Given the description of an element on the screen output the (x, y) to click on. 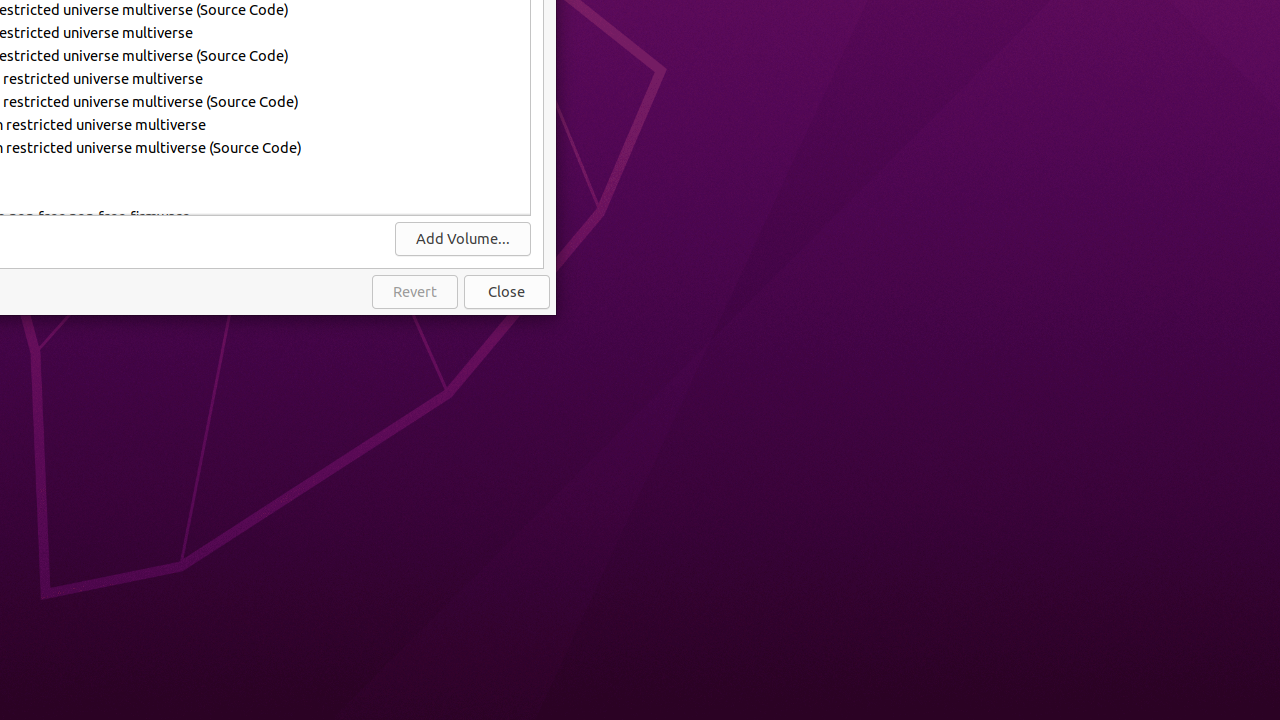
Revert Element type: push-button (415, 292)
Close Element type: push-button (507, 292)
Add Volume... Element type: push-button (463, 239)
